Given the description of an element on the screen output the (x, y) to click on. 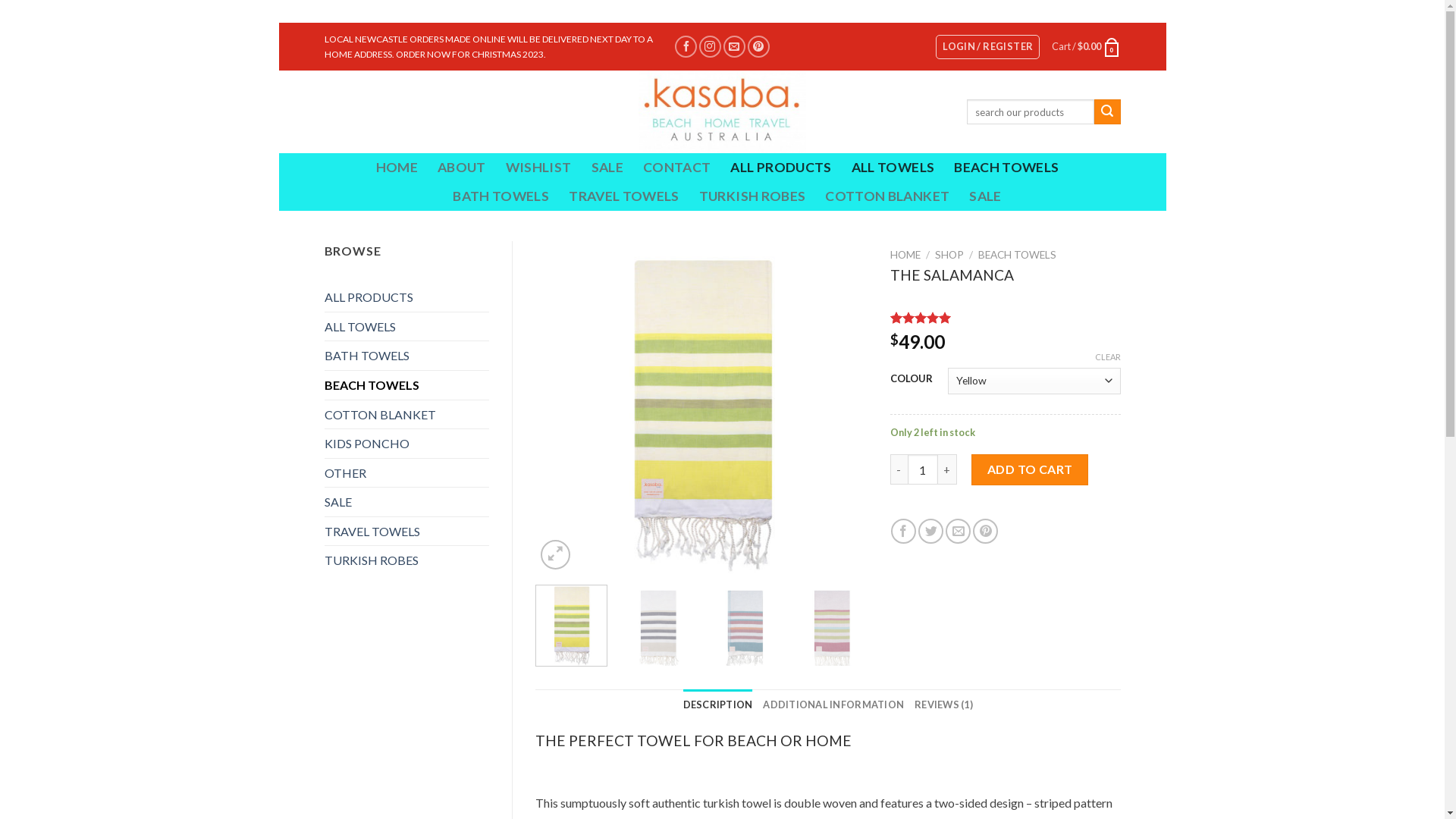
Send us an email Element type: hover (734, 46)
Share on Facebook Element type: hover (903, 530)
Share on Twitter Element type: hover (930, 530)
ADD TO CART Element type: text (1029, 469)
TURKISH ROBES Element type: text (752, 196)
SHOP Element type: text (949, 254)
ALL PRODUCTS Element type: text (406, 296)
Pin on Pinterest Element type: hover (984, 530)
Salamanca Yellow Element type: hover (701, 407)
ADDITIONAL INFORMATION Element type: text (832, 704)
Cart / $0.00
0 Element type: text (1085, 46)
BEACH TOWELS Element type: text (1005, 167)
Kasaba Turkish Towels Element type: hover (721, 111)
COTTON BLANKET Element type: text (406, 414)
DESCRIPTION Element type: text (718, 704)
KIDS PONCHO Element type: text (406, 443)
Skip to content Element type: text (277, 21)
ABOUT Element type: text (461, 167)
HOME Element type: text (396, 167)
ALL TOWELS Element type: text (893, 167)
Follow on Instagram Element type: hover (710, 46)
Zoom Element type: hover (555, 554)
SALE Element type: text (406, 501)
OTHER Element type: text (406, 472)
Rated out of 5 based on
1
customer rating Element type: text (1005, 317)
REVIEWS (1) Element type: text (943, 704)
Search Element type: text (1107, 112)
BATH TOWELS Element type: text (406, 355)
TRAVEL TOWELS Element type: text (623, 196)
HOME Element type: text (905, 254)
COTTON BLANKET Element type: text (887, 196)
Follow on Facebook Element type: hover (685, 46)
Email to a Friend Element type: hover (957, 530)
TRAVEL TOWELS Element type: text (406, 531)
BATH TOWELS Element type: text (500, 196)
SALE Element type: text (607, 167)
Follow on Pinterest Element type: hover (758, 46)
TURKISH ROBES Element type: text (406, 560)
CLEAR Element type: text (1107, 356)
WISHLIST Element type: text (538, 167)
BEACH TOWELS Element type: text (406, 384)
SALE Element type: text (985, 196)
CONTACT Element type: text (676, 167)
ALL TOWELS Element type: text (406, 326)
LOGIN / REGISTER Element type: text (987, 46)
ALL PRODUCTS Element type: text (780, 167)
BEACH TOWELS Element type: text (1017, 254)
